Given the description of an element on the screen output the (x, y) to click on. 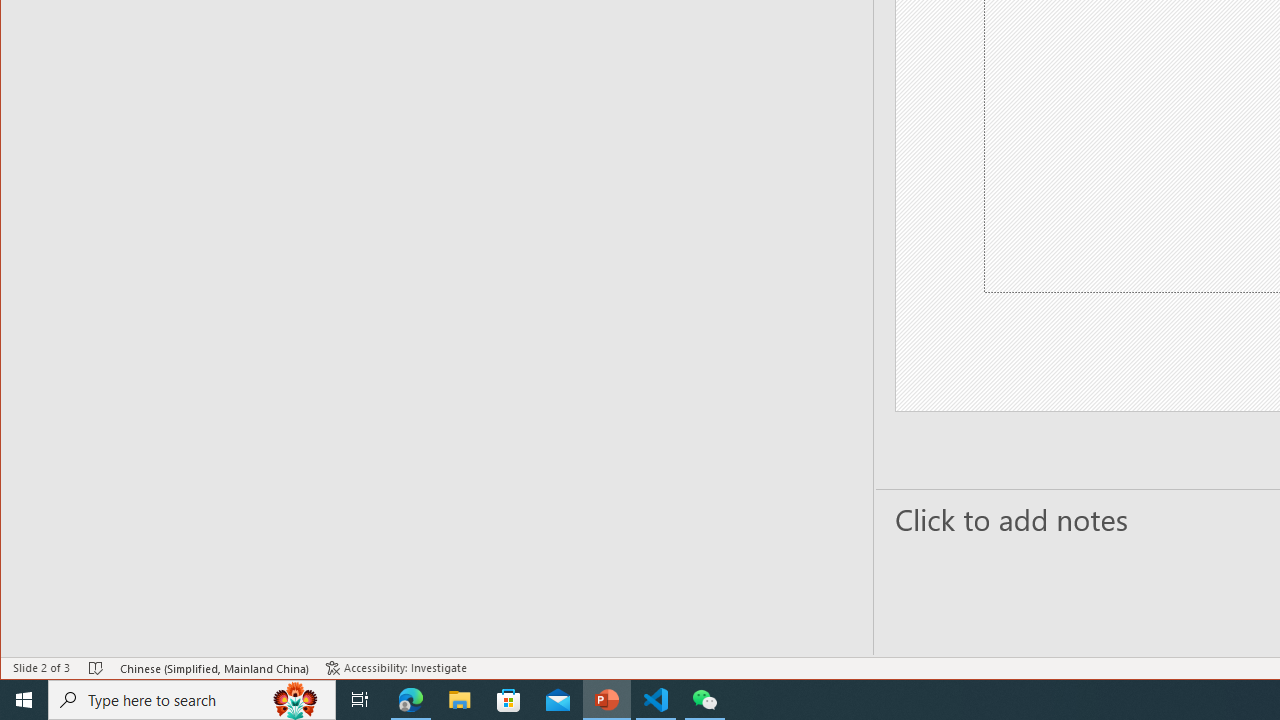
WeChat - 1 running window (704, 699)
Microsoft Edge - 1 running window (411, 699)
